Given the description of an element on the screen output the (x, y) to click on. 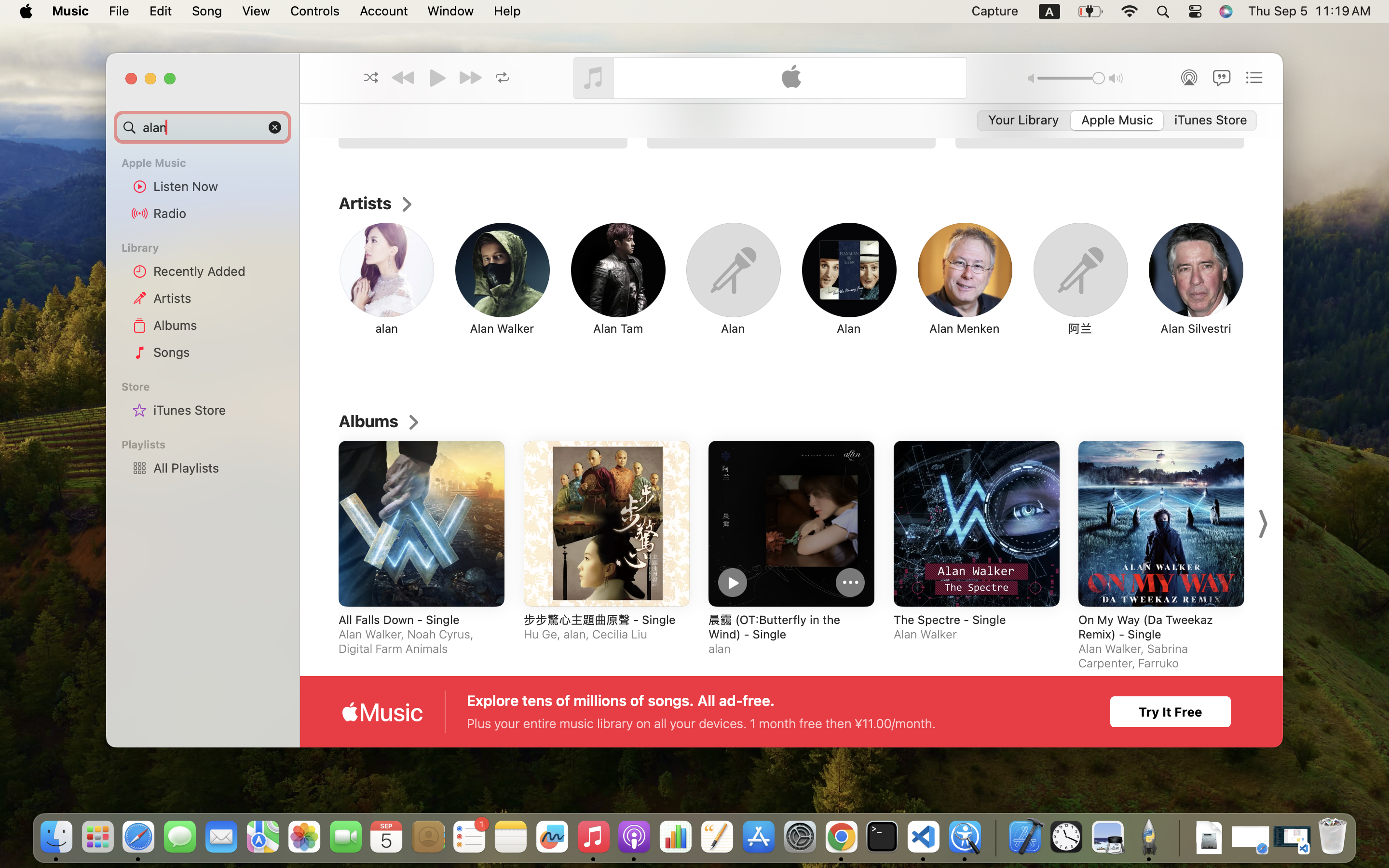
1.0 Element type: AXSlider (1070, 77)
Artist Element type: AXStaticText (776, 100)
Alan Silvestri Element type: AXStaticText (1195, 328)
Listen Now Element type: AXStaticText (217, 185)
Apple Music Element type: AXStaticText (208, 162)
